Given the description of an element on the screen output the (x, y) to click on. 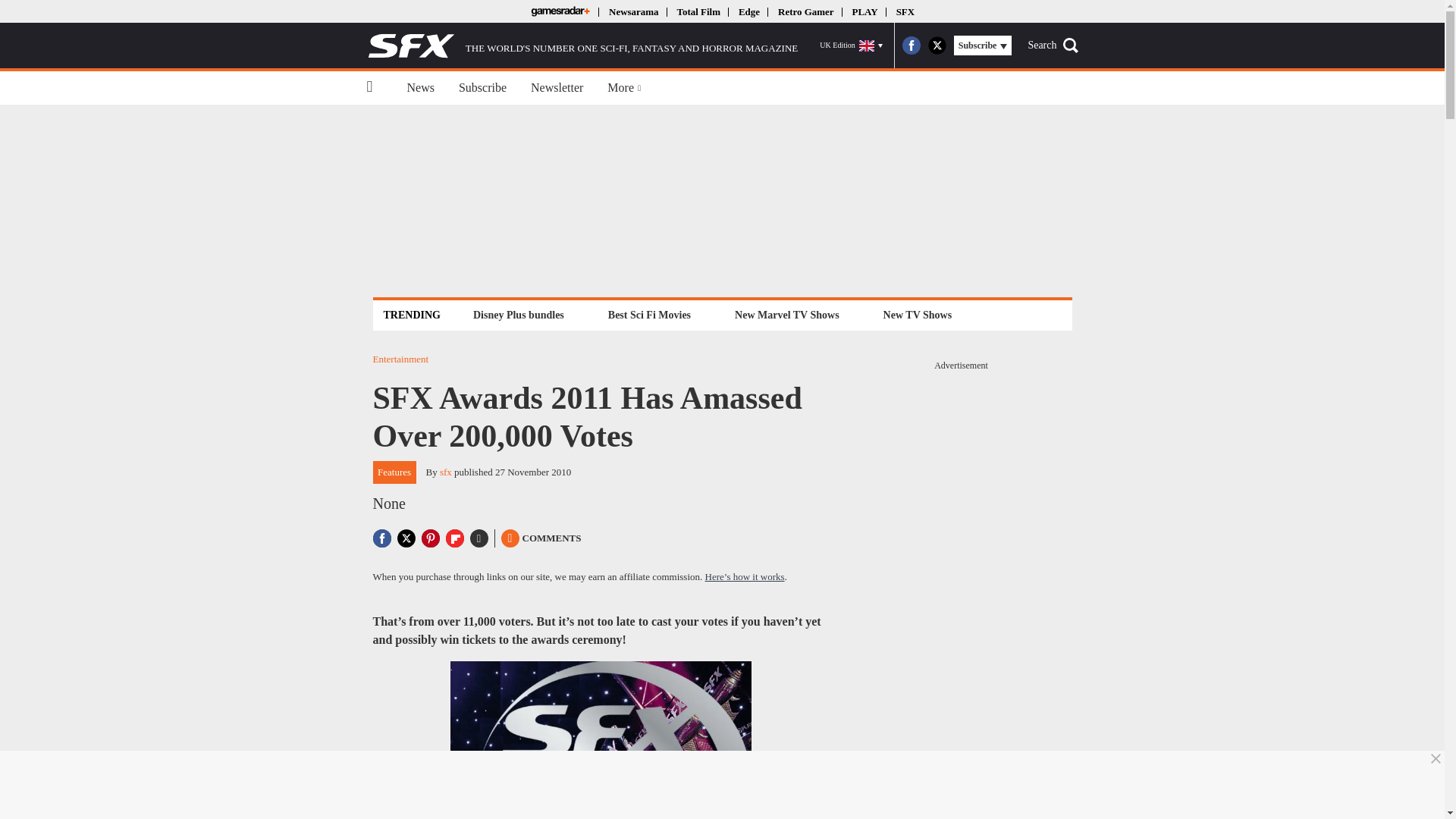
Total Film (698, 11)
Disney Plus bundles (518, 314)
Retro Gamer (805, 11)
Edge (749, 11)
PLAY (864, 11)
Newsletter (556, 87)
Subscribe (482, 87)
SFX (905, 11)
New TV Shows (917, 314)
New Marvel TV Shows (786, 314)
News (419, 87)
THE WORLD'S NUMBER ONE SCI-FI, FANTASY AND HORROR MAGAZINE (581, 44)
